Given the description of an element on the screen output the (x, y) to click on. 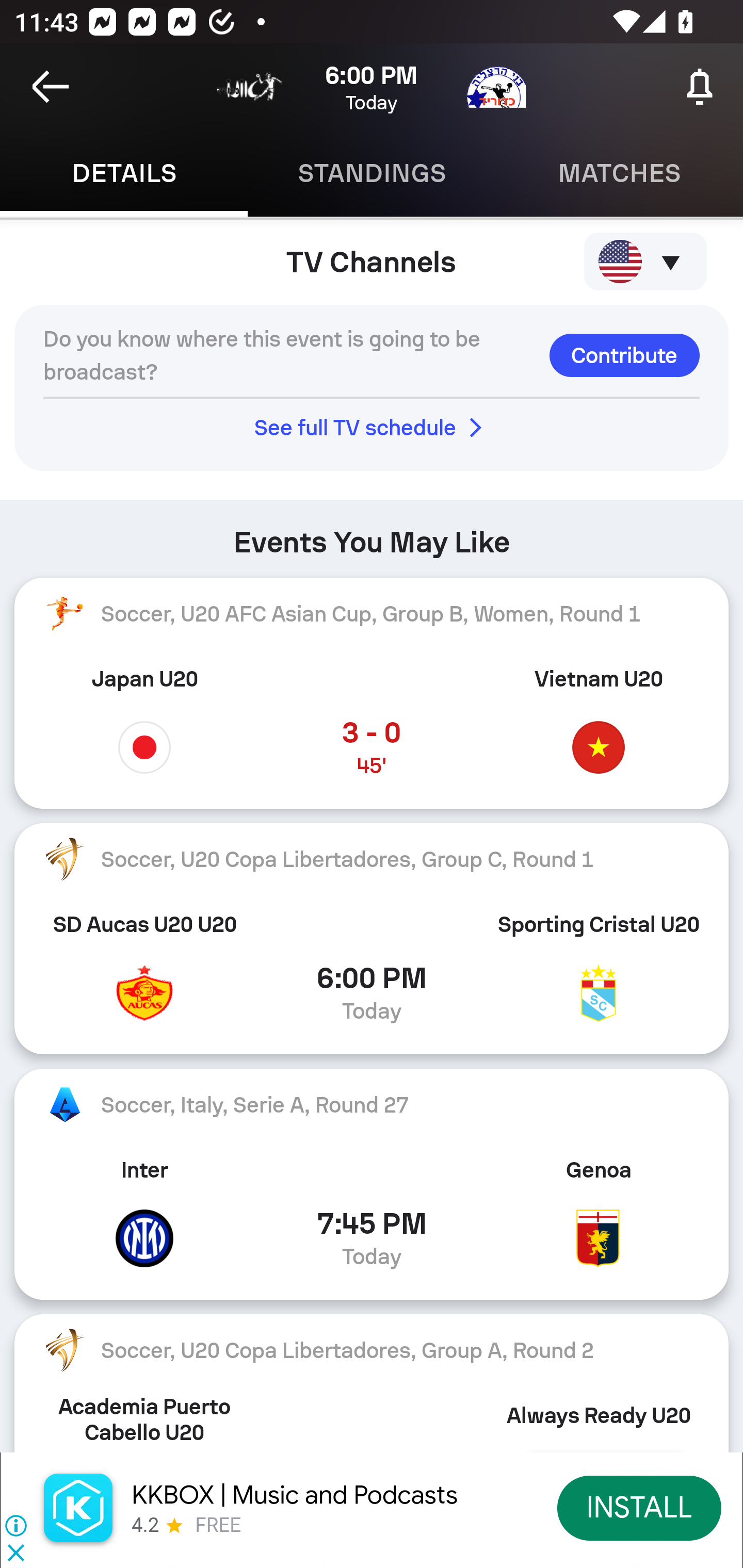
Navigate up (50, 86)
Standings STANDINGS (371, 173)
Matches MATCHES (619, 173)
Contribute (624, 355)
See full TV schedule (371, 427)
Events You May Like (371, 535)
Soccer, U20 AFC Asian Cup, Group B, Women, Round 1 (371, 613)
Soccer, U20 Copa Libertadores, Group C, Round 1 (371, 859)
Soccer, Italy, Serie A, Round 27 (371, 1105)
Soccer, U20 Copa Libertadores, Group A, Round 2 (371, 1349)
INSTALL (639, 1507)
KKBOX | Music and Podcasts (294, 1494)
